Given the description of an element on the screen output the (x, y) to click on. 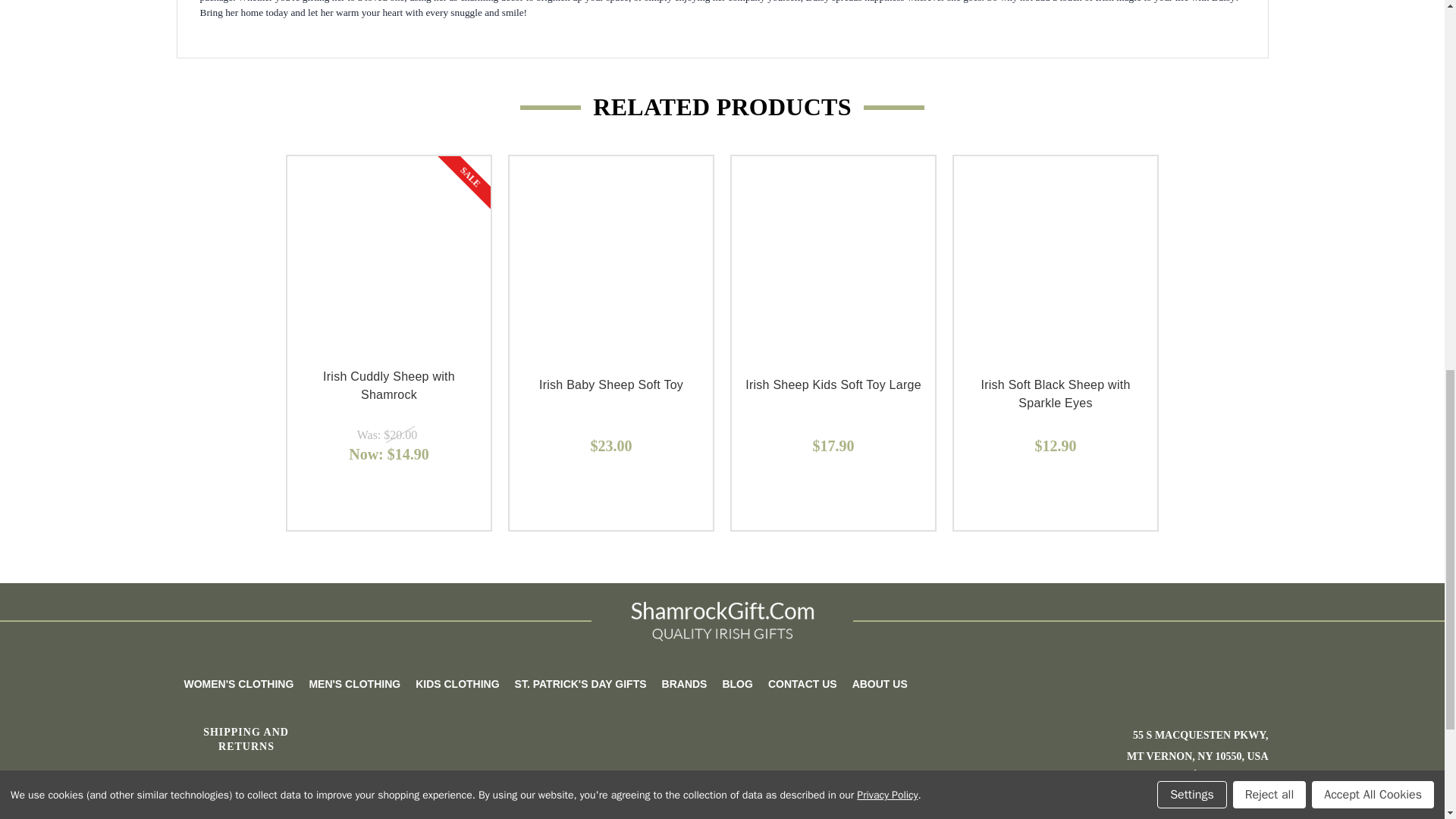
JL-MRT20274-7 Irish Sheep Kids Soft Toy Shamrockgift.com (833, 257)
JL-MRT70216-24CM Irish Baby Sheep Soft Toy Shamrockgift.com (611, 257)
Shamrock Gift (722, 621)
AIS-105386 Irish Cuddly Sheep with Shamrock ShamrockGift.com (388, 257)
